Given the description of an element on the screen output the (x, y) to click on. 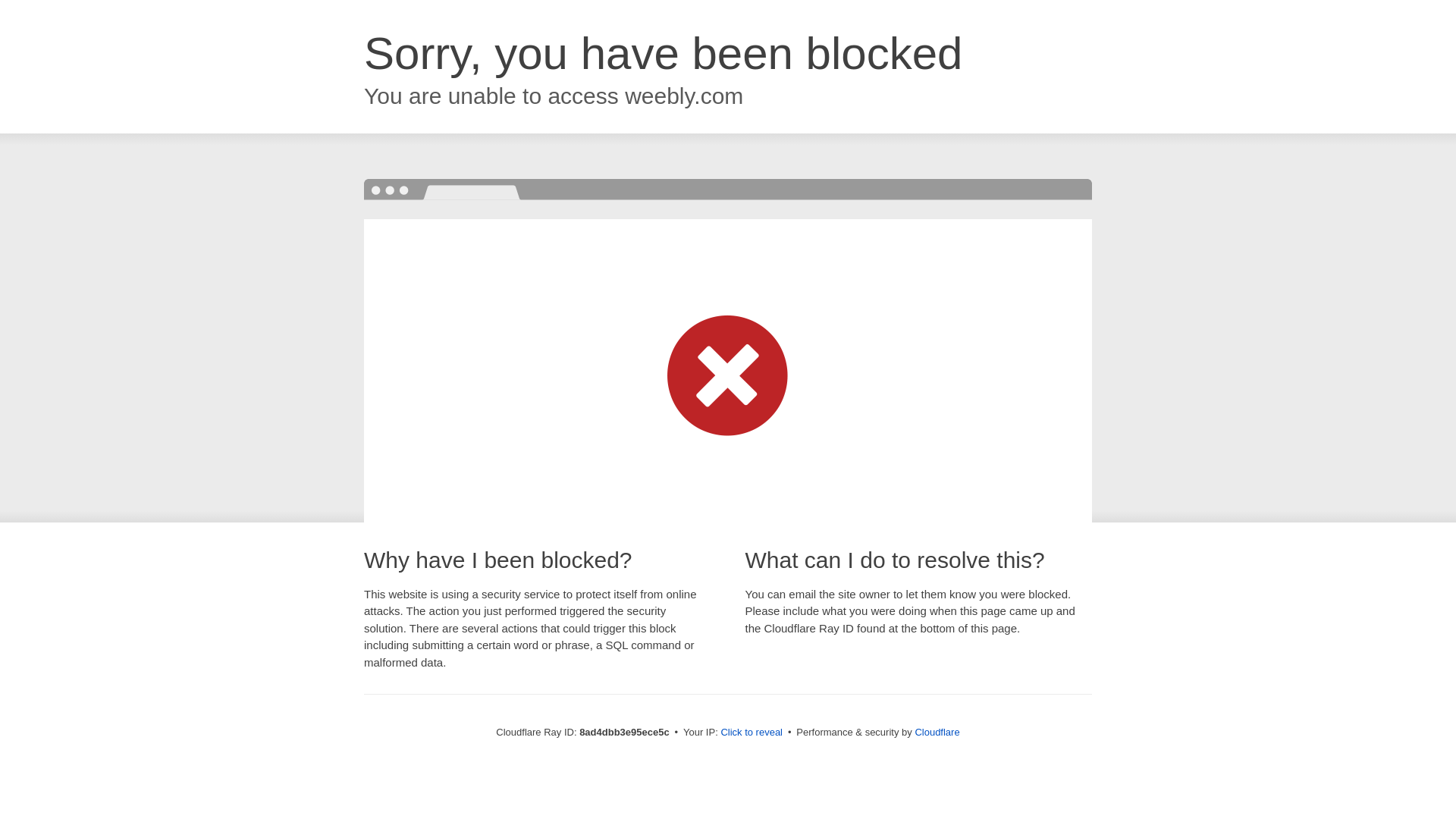
Click to reveal (751, 732)
Cloudflare (936, 731)
